Given the description of an element on the screen output the (x, y) to click on. 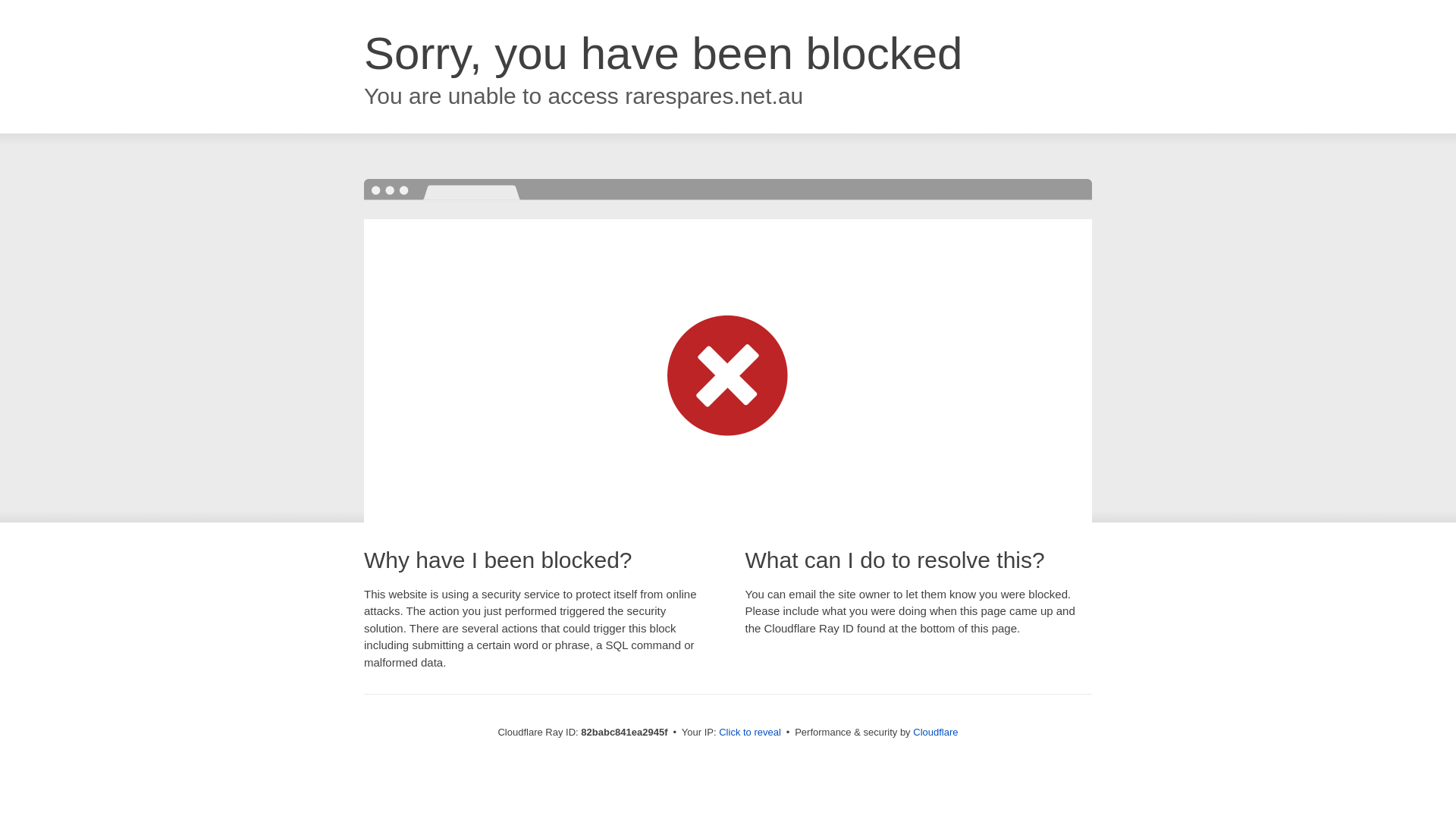
Cloudflare Element type: text (935, 731)
Click to reveal Element type: text (749, 732)
